Given the description of an element on the screen output the (x, y) to click on. 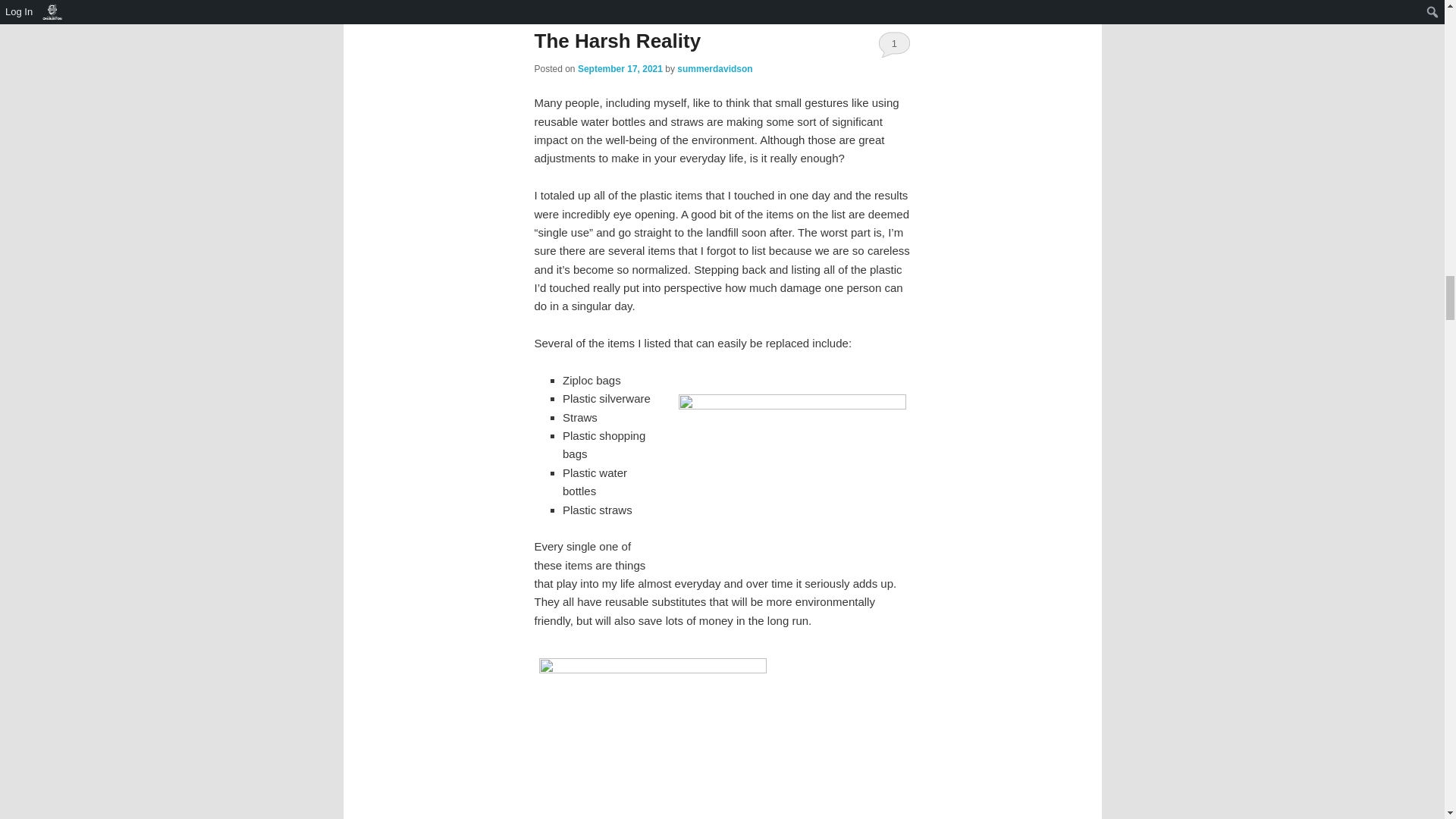
The Harsh Reality (617, 40)
1 (894, 43)
Permalink to The Harsh Reality (617, 40)
summerdavidson (714, 68)
September 17, 2021 (620, 68)
View all posts by summerdavidson (714, 68)
9:11 pm (620, 68)
